Given the description of an element on the screen output the (x, y) to click on. 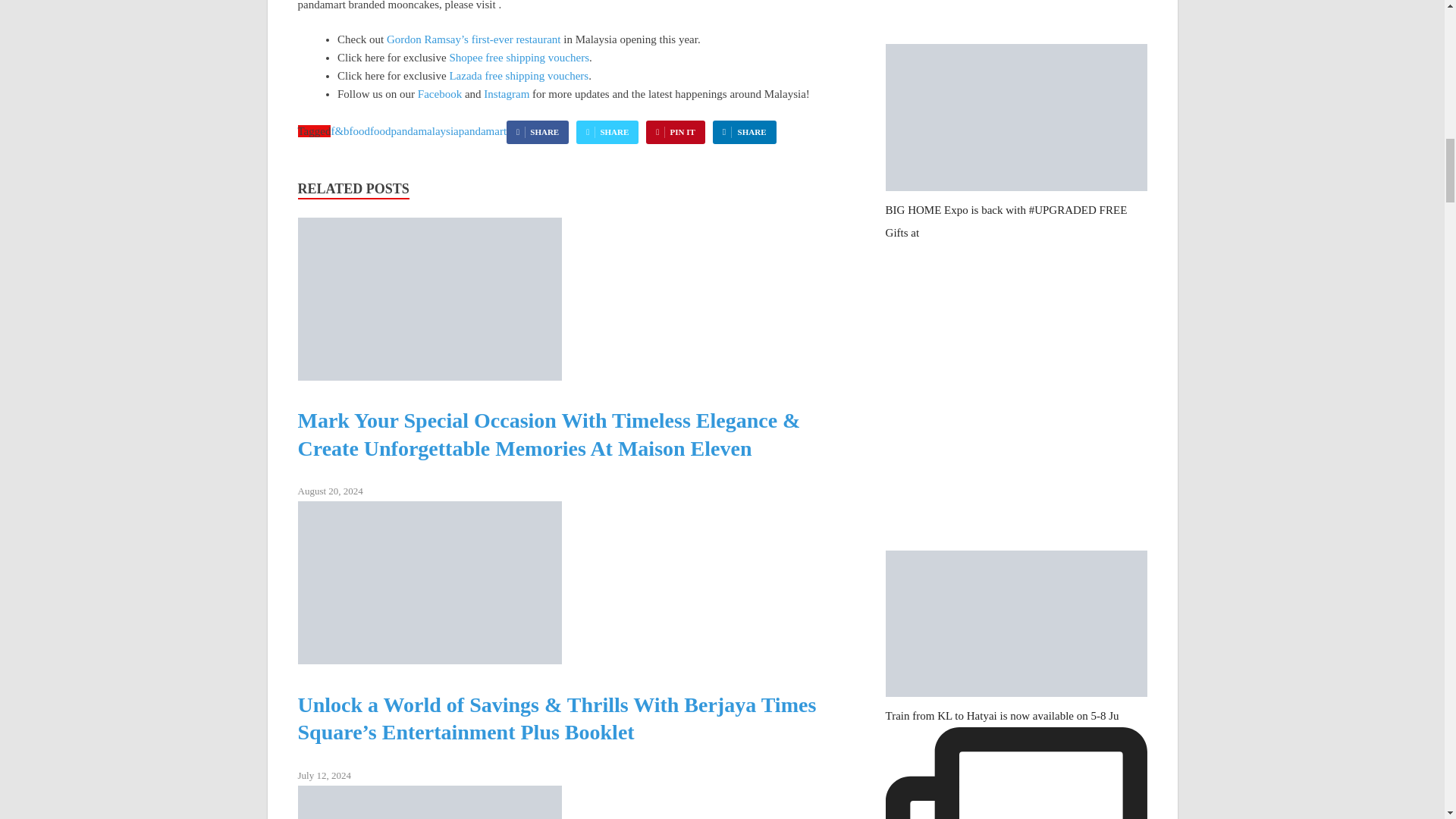
SHARE (607, 132)
SHARE (537, 132)
pandamart (482, 131)
foodpanda (393, 131)
food (360, 131)
malaysia (437, 131)
Facebook (439, 93)
Shopee free shipping vouchers (518, 57)
PIN IT (675, 132)
SHARE (744, 132)
